Given the description of an element on the screen output the (x, y) to click on. 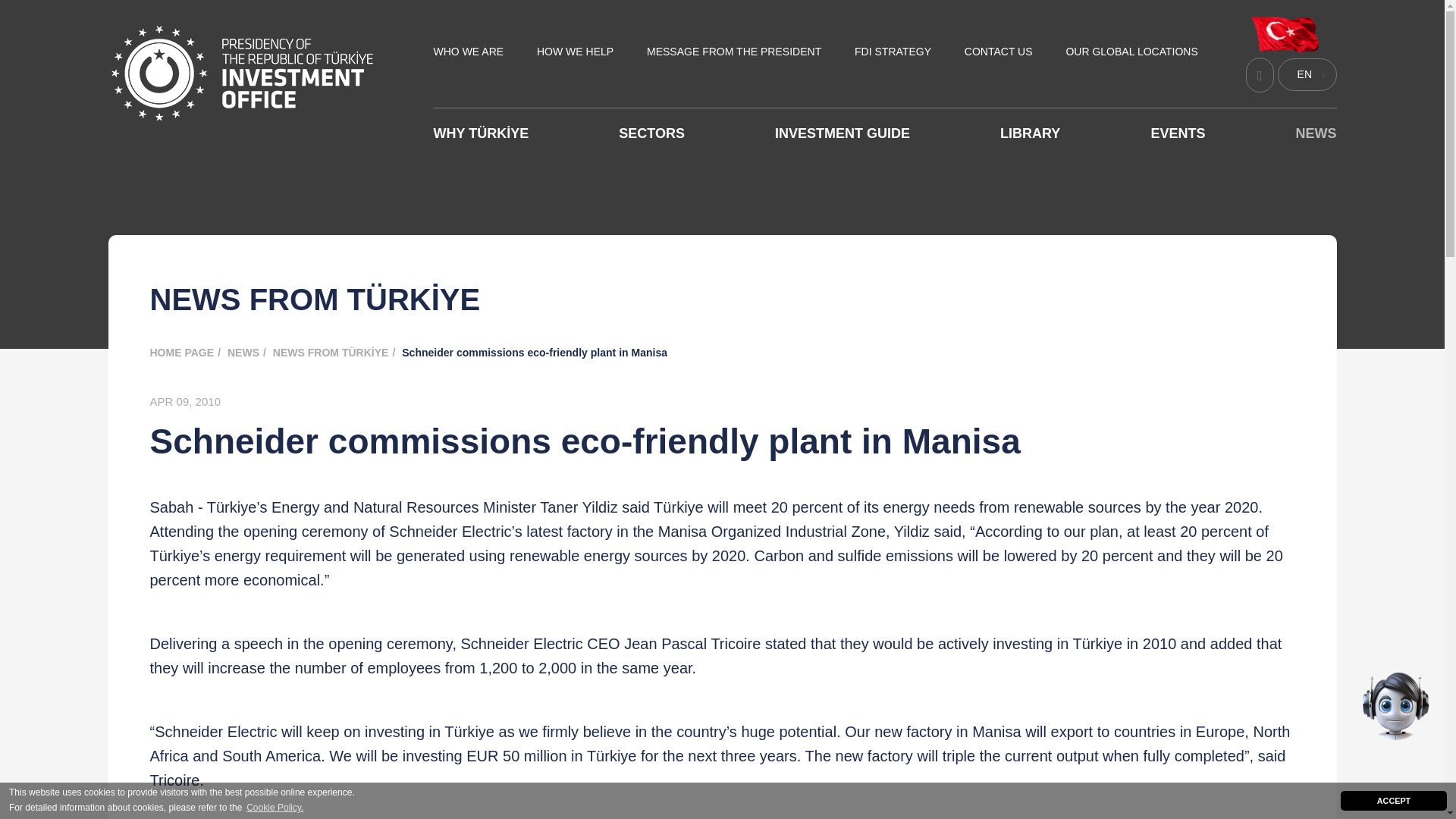
Cookie Policy. (274, 807)
SECTORS (651, 133)
NEWS (1315, 133)
INVESTMENT GUIDE (842, 133)
LIBRARY (1029, 133)
EN (1306, 74)
EVENTS (1177, 133)
WHO WE ARE (468, 51)
CONTACT US (997, 51)
Schneider commissions eco-friendly plant in Manisa (538, 352)
FDI STRATEGY (892, 51)
MESSAGE FROM THE PRESIDENT (733, 51)
OUR GLOBAL LOCATIONS (1130, 51)
HOME PAGE (187, 352)
NEWS (248, 352)
